Given the description of an element on the screen output the (x, y) to click on. 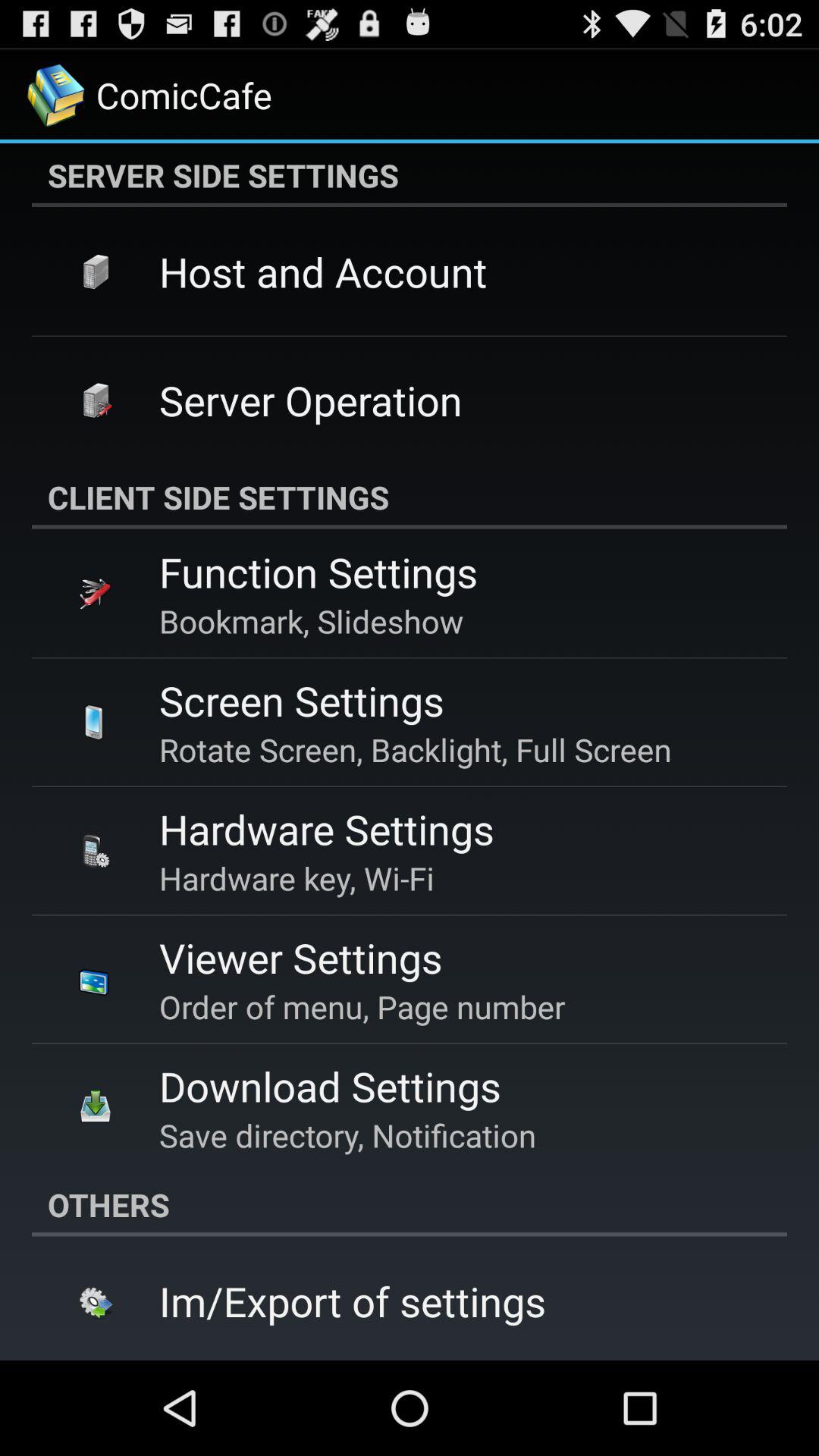
tap the item above bookmark, slideshow icon (318, 571)
